Given the description of an element on the screen output the (x, y) to click on. 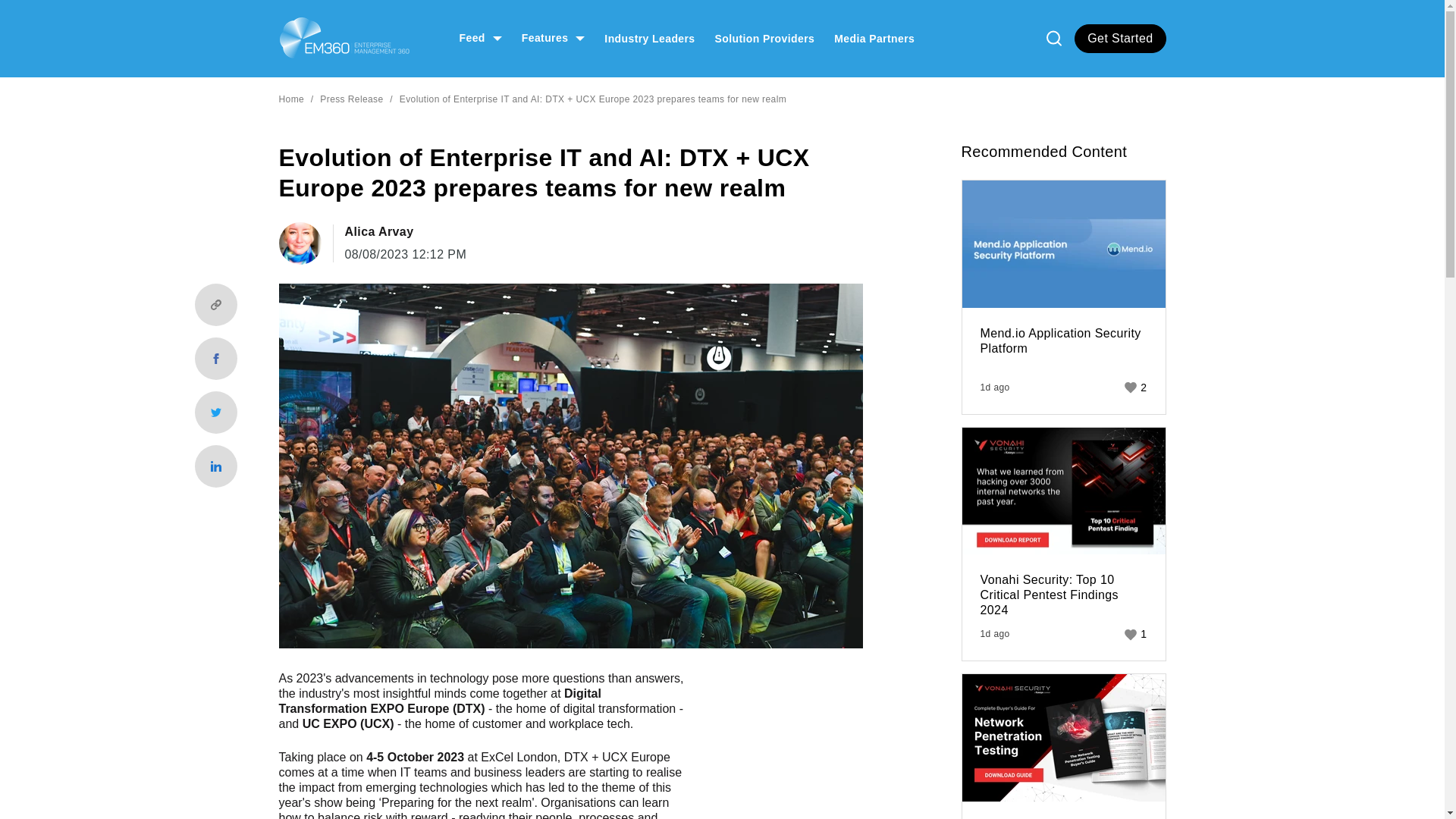
Alica Arvay (404, 231)
Home (344, 38)
Get Started (1120, 38)
Home (291, 99)
Solution Providers (764, 37)
Media Partners (874, 37)
Industry Leaders (649, 37)
